Given the description of an element on the screen output the (x, y) to click on. 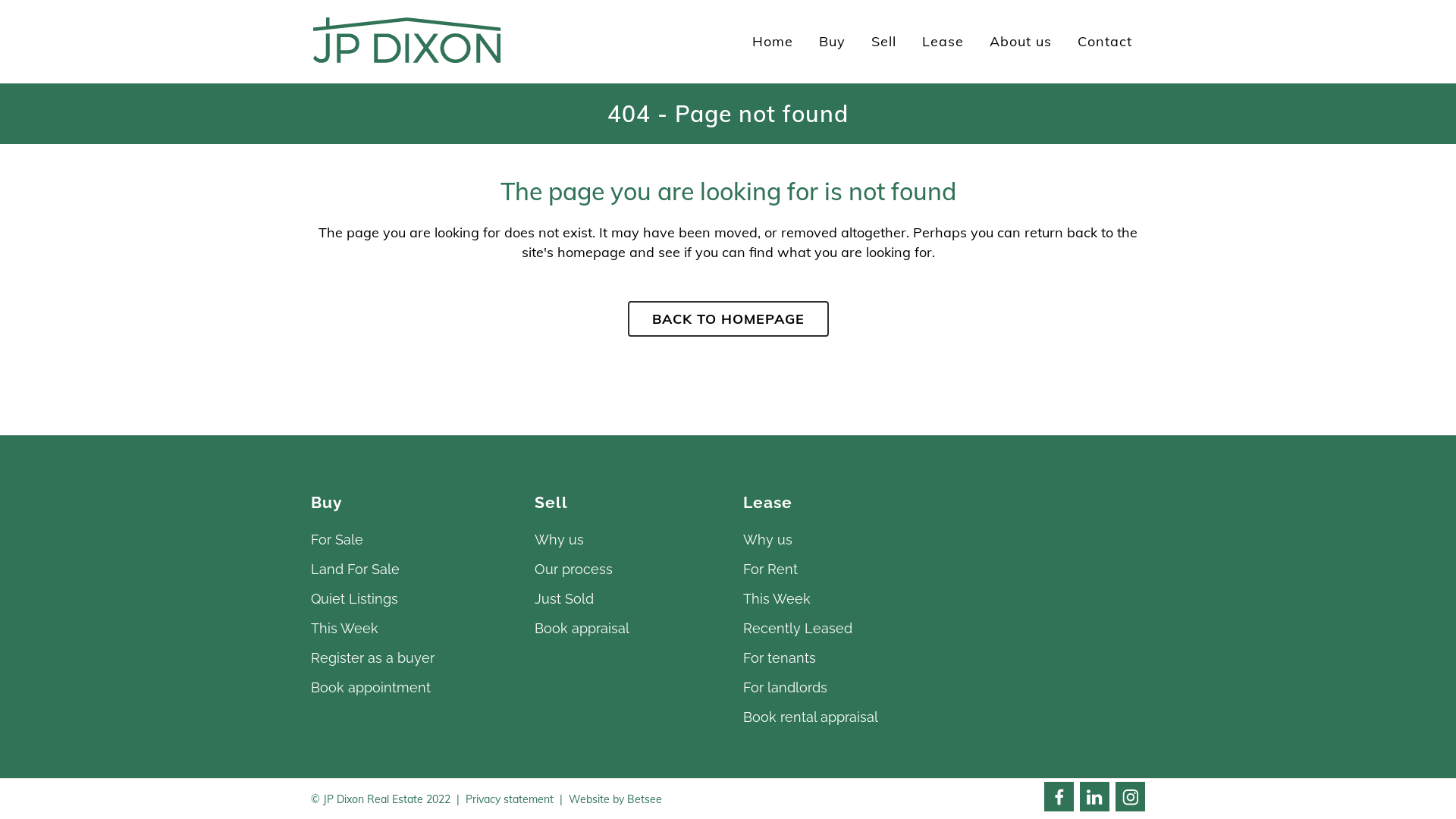
Why us Element type: text (837, 539)
Why us Element type: text (627, 539)
About us Element type: text (1020, 41)
Register as a buyer Element type: text (409, 657)
BACK TO HOMEPAGE Element type: text (727, 318)
For tenants Element type: text (837, 657)
Buy Element type: text (832, 41)
This Week Element type: text (409, 628)
Sell Element type: text (883, 41)
Book appointment Element type: text (409, 687)
Recently Leased Element type: text (837, 628)
Privacy statement Element type: text (509, 798)
Betsee Element type: text (644, 798)
For Rent Element type: text (837, 569)
Just Sold Element type: text (627, 598)
Our process Element type: text (627, 569)
Quiet Listings Element type: text (409, 598)
Contact Element type: text (1104, 41)
Land For Sale Element type: text (409, 569)
For landlords Element type: text (837, 687)
Book appraisal Element type: text (627, 628)
Lease Element type: text (942, 41)
For Sale Element type: text (409, 539)
Book rental appraisal Element type: text (837, 717)
Home Element type: text (772, 41)
This Week Element type: text (837, 598)
